Given the description of an element on the screen output the (x, y) to click on. 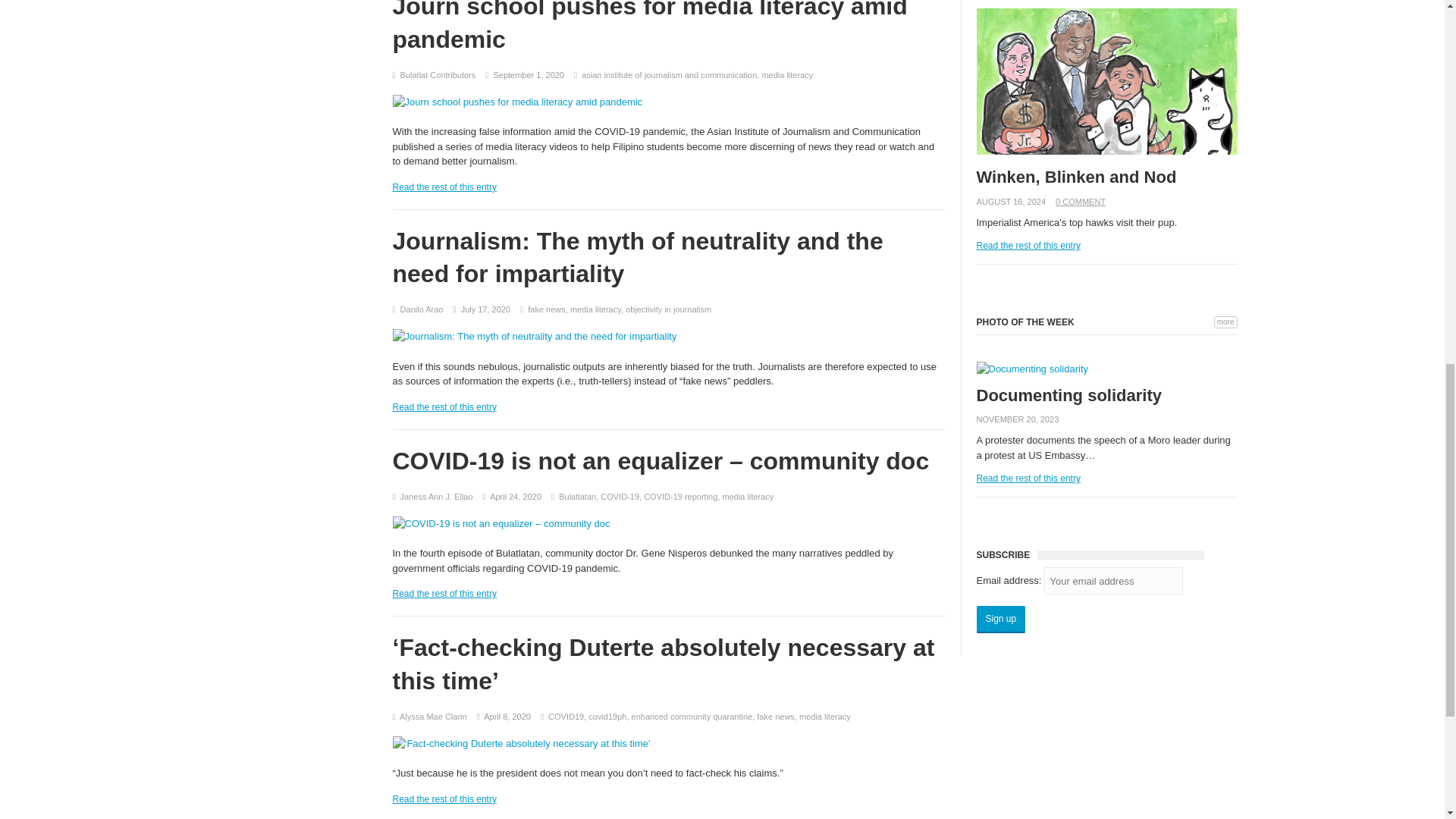
Friday, July 17, 2020, 3:00 pm (486, 308)
Friday, April 24, 2020, 12:02 pm (515, 496)
Wednesday, April 8, 2020, 10:37 pm (507, 716)
Sign up (1001, 619)
Tuesday, September 1, 2020, 6:34 pm (528, 74)
